Given the description of an element on the screen output the (x, y) to click on. 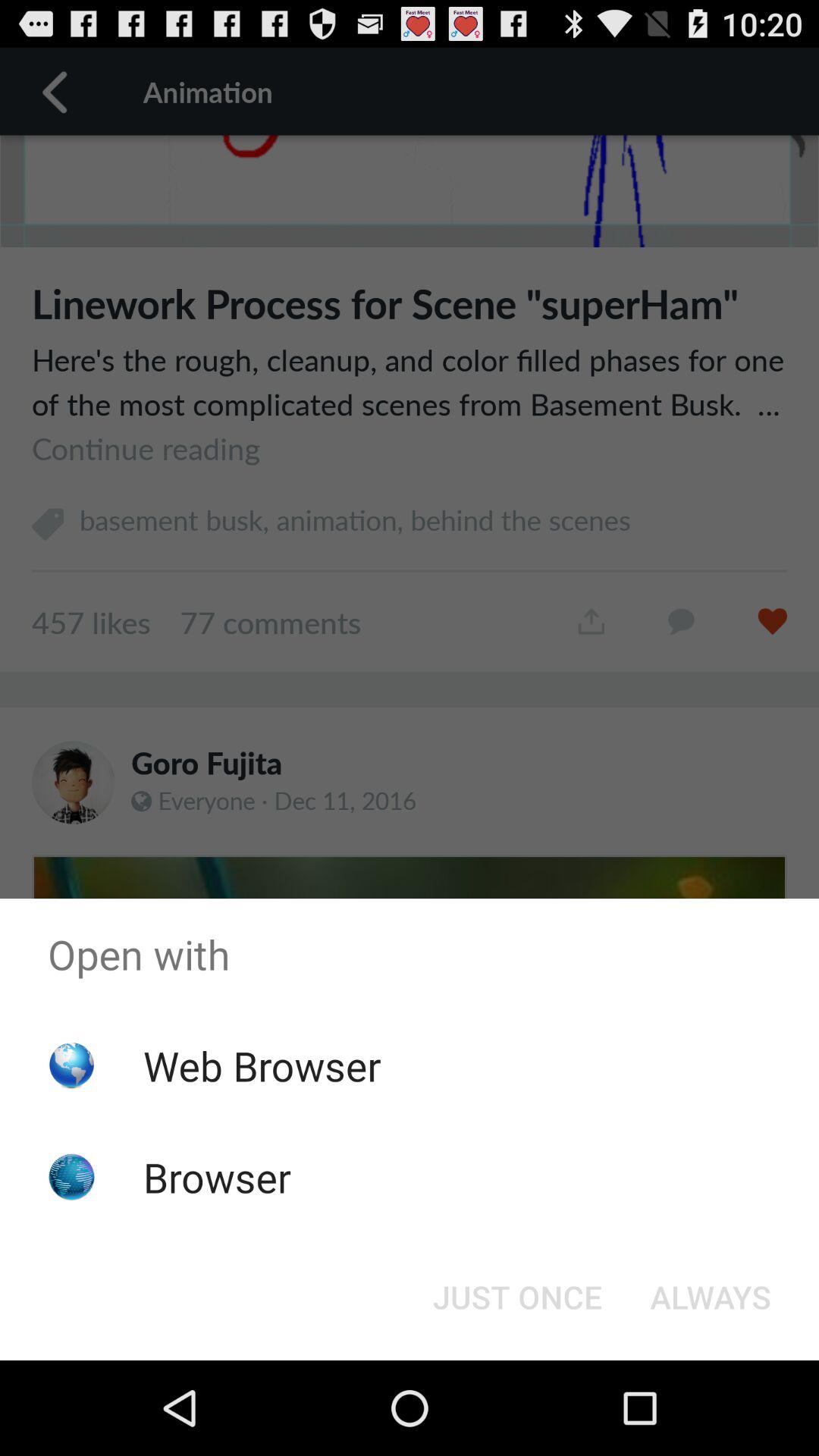
select item below the open with item (262, 1065)
